Given the description of an element on the screen output the (x, y) to click on. 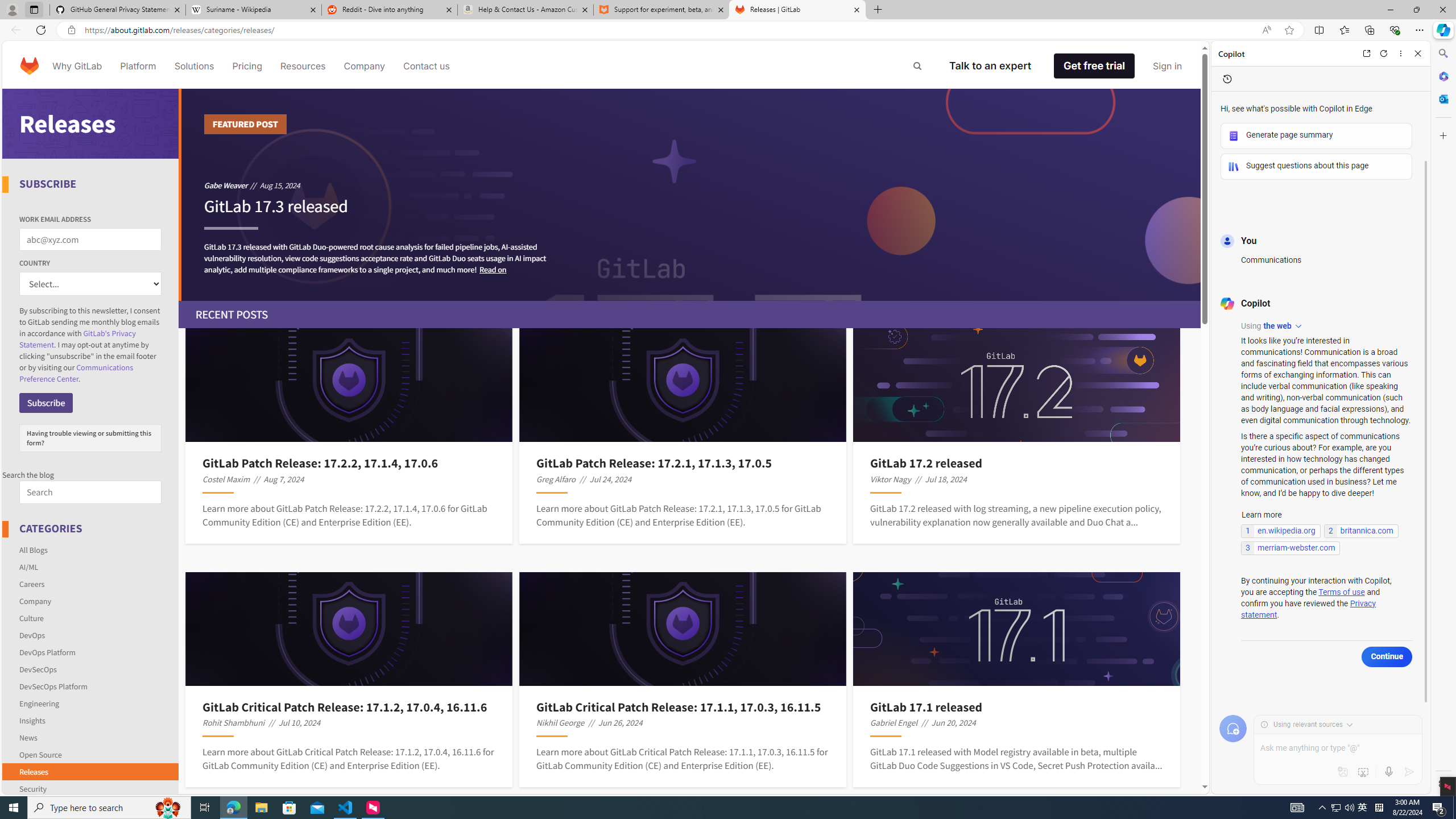
Company (35, 600)
Help & Contact Us - Amazon Customer Service - Sleeping (525, 9)
Gabe Weaver (225, 184)
Post Image (1016, 628)
GitHub General Privacy Statement - GitHub Docs (117, 9)
Culture (30, 617)
Pricing (246, 65)
GitLab Critical Patch Release: 17.1.1, 17.0.3, 16.11.5 (682, 706)
DevSecOps (90, 669)
Company (364, 65)
Contact us (426, 65)
